Given the description of an element on the screen output the (x, y) to click on. 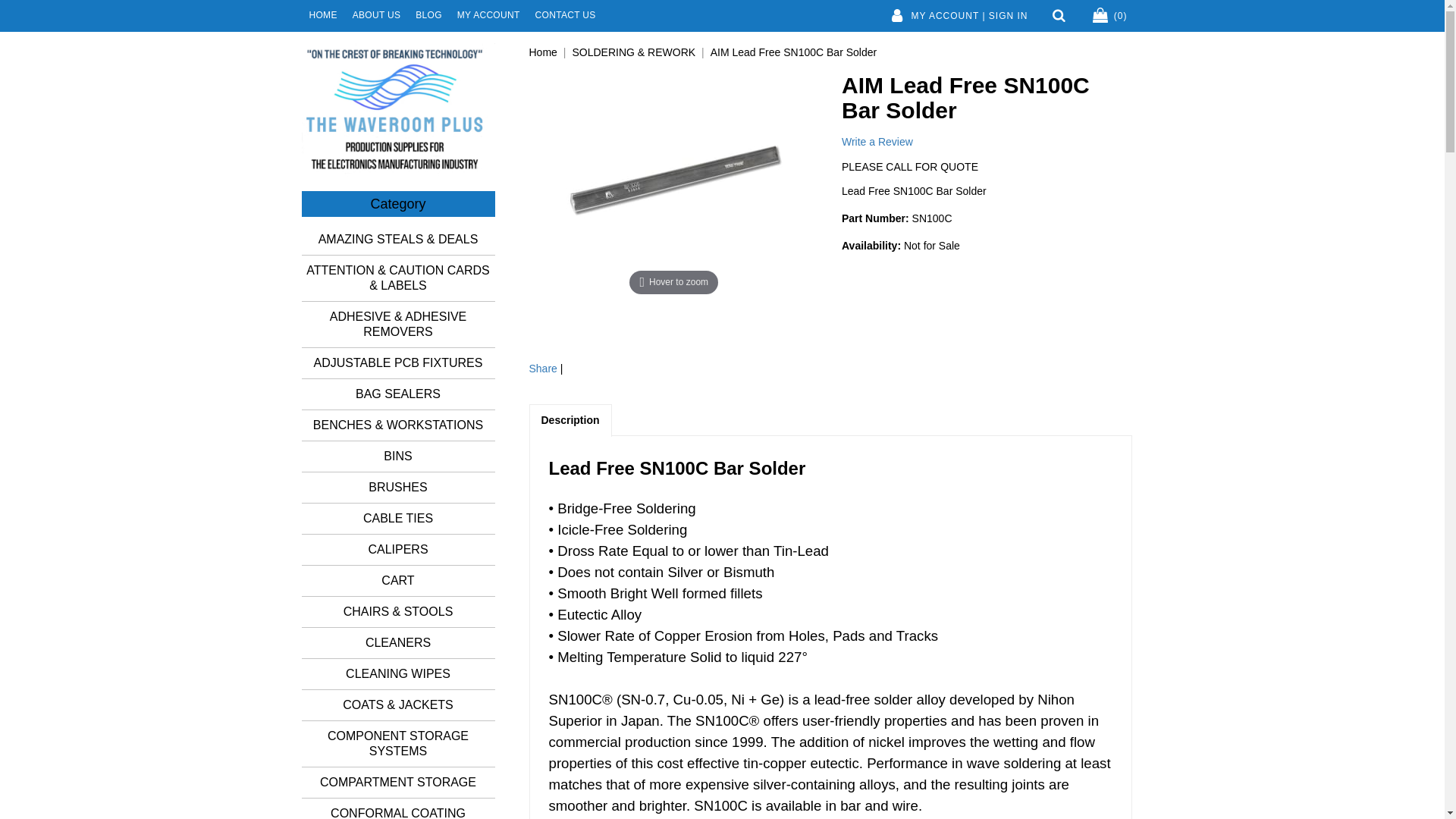
BRUSHES Element type: text (398, 487)
(0) Element type: text (1107, 15)
ATTENTION & CAUTION CARDS & LABELS Element type: text (398, 278)
CALIPERS Element type: text (398, 549)
COMPARTMENT STORAGE Element type: text (398, 782)
MY ACCOUNT | SIGN IN Element type: text (956, 15)
AIM Lead Free SN100C Bar Solder Element type: text (793, 52)
MY ACCOUNT Element type: text (488, 15)
AMAZING STEALS & DEALS Element type: text (398, 239)
CART Element type: text (398, 580)
ABOUT US Element type: text (376, 15)
Write a Review Element type: text (877, 141)
ADHESIVE & ADHESIVE REMOVERS Element type: text (398, 324)
BLOG Element type: text (428, 15)
HOME Element type: text (323, 15)
Share Element type: text (543, 368)
CLEANERS Element type: text (398, 642)
CONTACT US Element type: text (565, 15)
CLEANING WIPES Element type: text (398, 673)
Zoom in on Image(s)
Hover to zoom Element type: text (673, 184)
BAG SEALERS Element type: text (398, 394)
ADJUSTABLE PCB FIXTURES Element type: text (398, 363)
Description Element type: text (569, 420)
CHAIRS & STOOLS Element type: text (398, 611)
Home Element type: text (543, 52)
BENCHES & WORKSTATIONS Element type: text (398, 425)
CABLE TIES Element type: text (398, 518)
SOLDERING & REWORK Element type: text (633, 52)
BINS Element type: text (398, 456)
COATS & JACKETS Element type: text (398, 705)
COMPONENT STORAGE SYSTEMS Element type: text (398, 743)
